Given the description of an element on the screen output the (x, y) to click on. 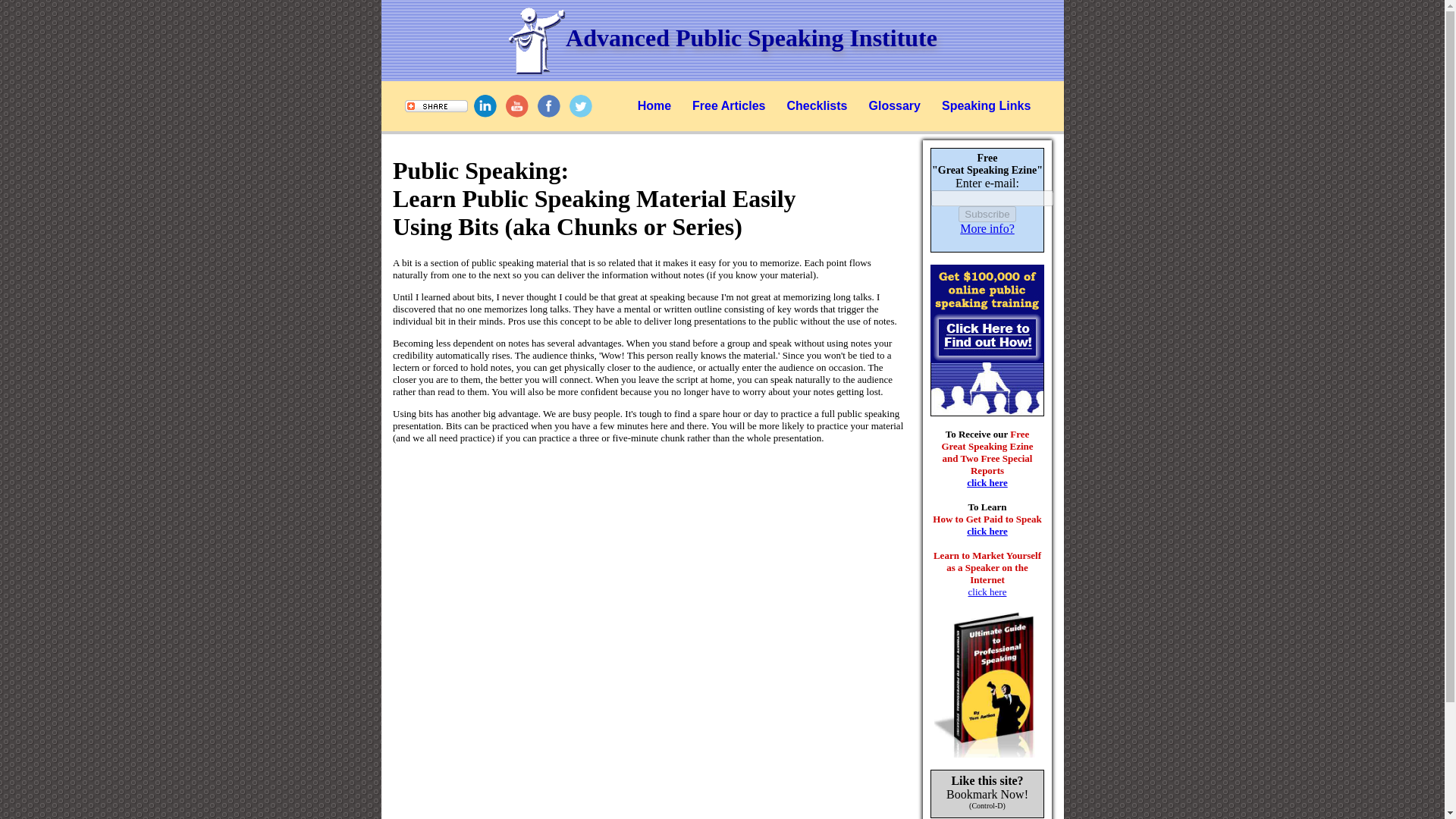
Speaking Links (986, 105)
Free Articles (728, 105)
Glossary (893, 105)
More info? (986, 228)
click here (987, 591)
click here (986, 531)
Subscribe (986, 213)
Checklists (816, 105)
click here (986, 482)
Home (654, 105)
Subscribe (986, 213)
